Given the description of an element on the screen output the (x, y) to click on. 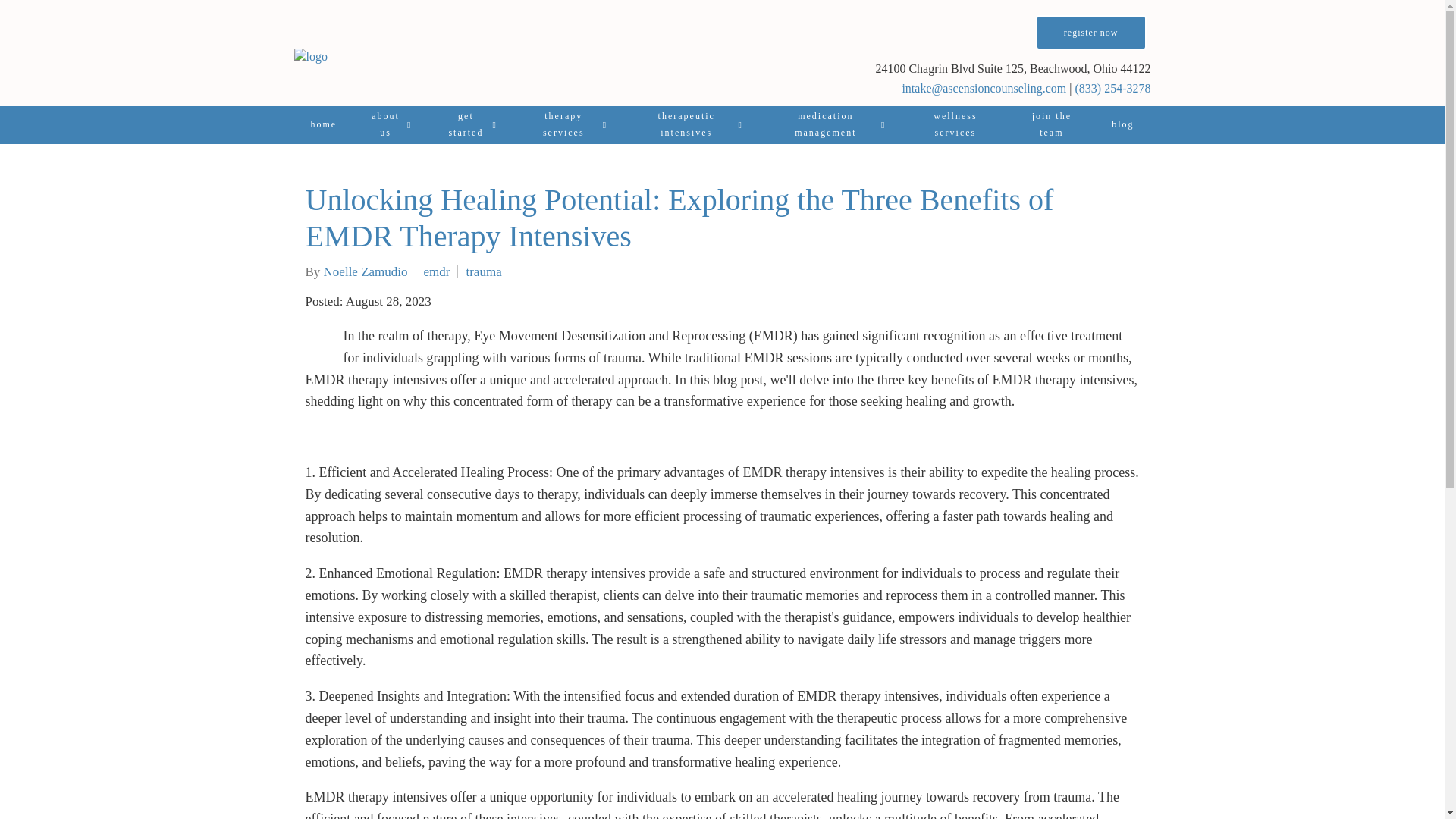
home (323, 125)
about us (390, 125)
get started (470, 125)
